Given the description of an element on the screen output the (x, y) to click on. 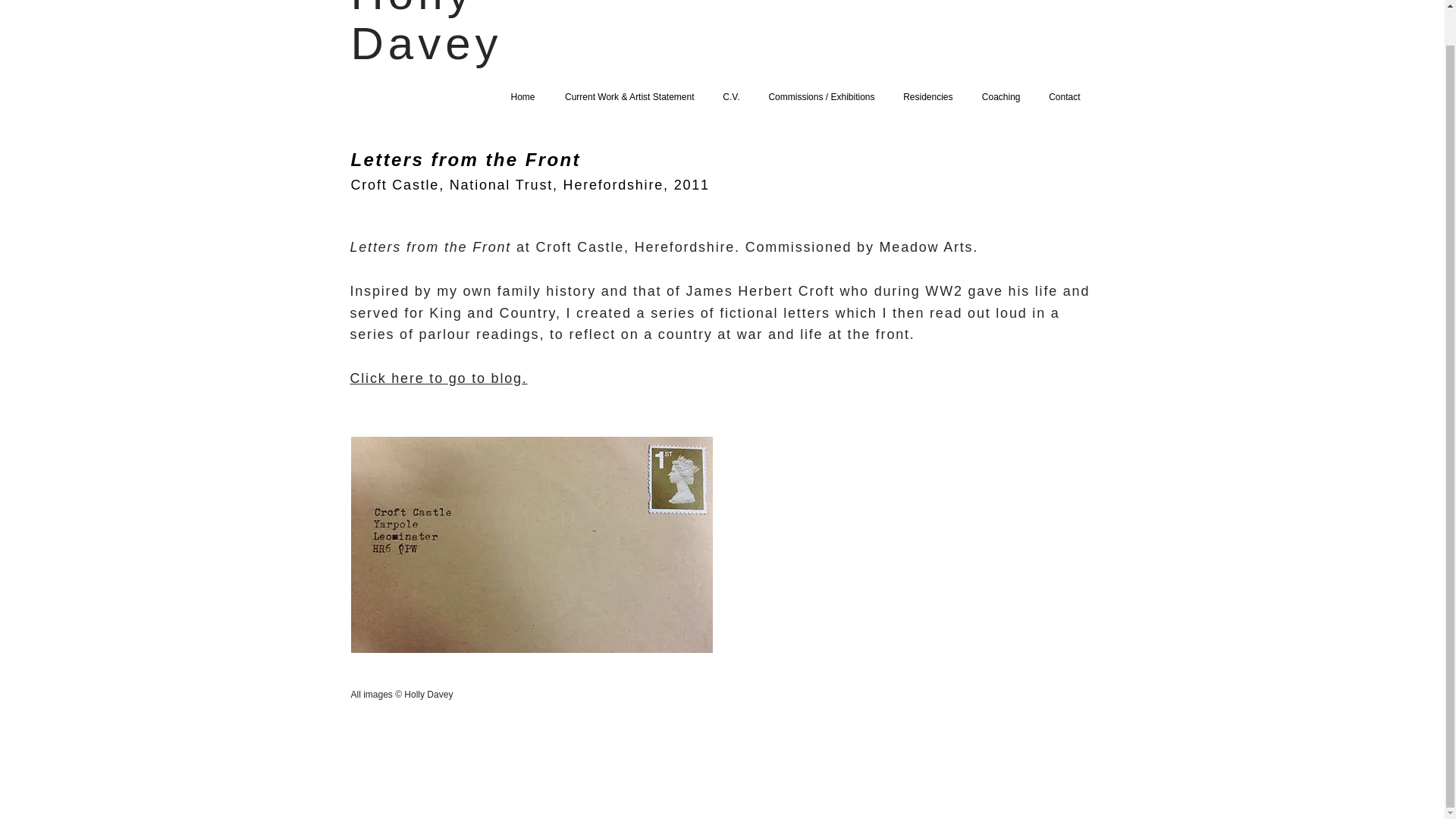
Residencies (925, 97)
Click here to go to blog.  (441, 378)
C.V. (729, 97)
Home (521, 97)
Coaching (999, 97)
Contact (1062, 97)
